Given the description of an element on the screen output the (x, y) to click on. 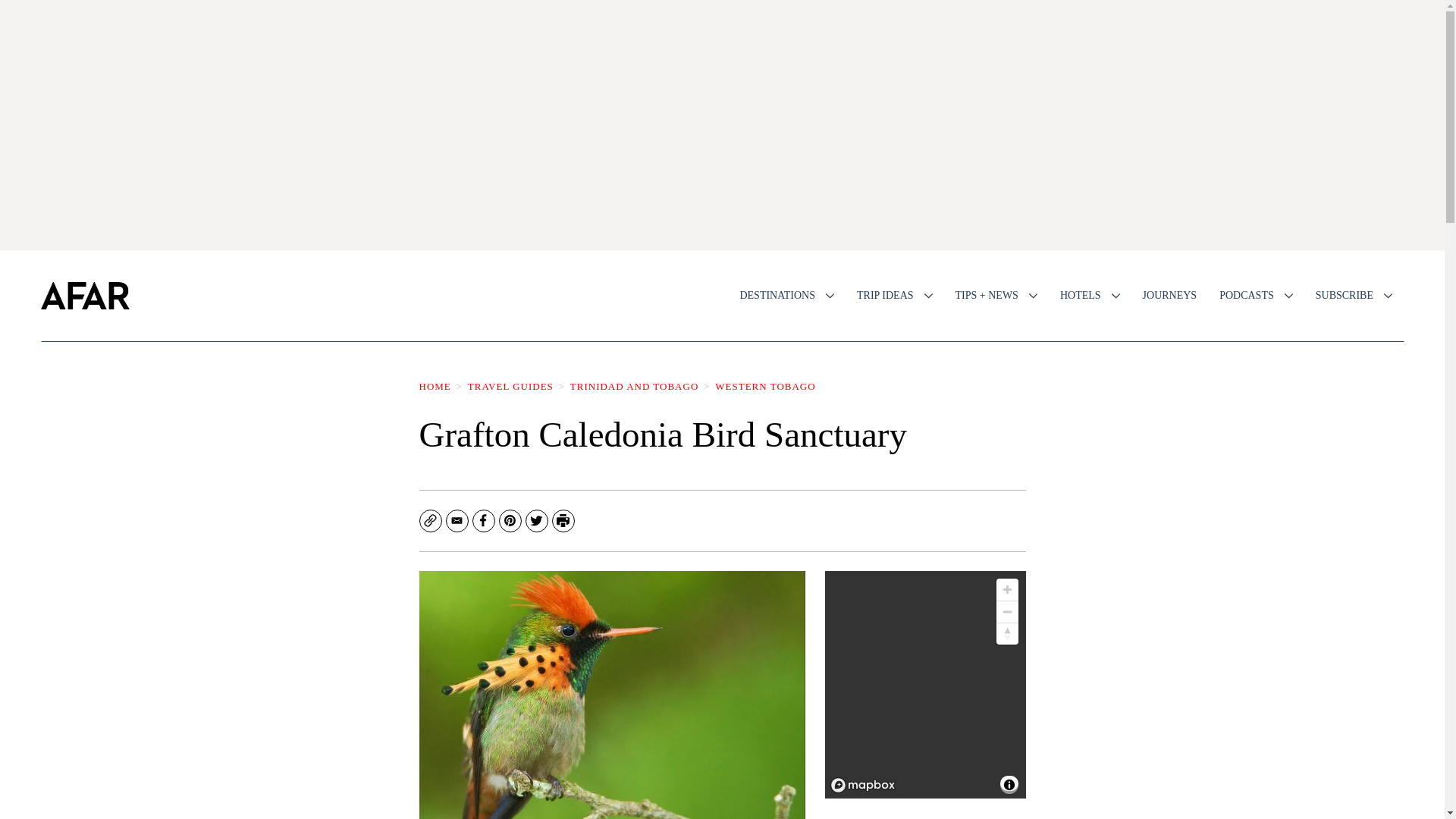
Reset bearing to north (1006, 633)
Zoom in (1006, 589)
Zoom out (1006, 611)
